Given the description of an element on the screen output the (x, y) to click on. 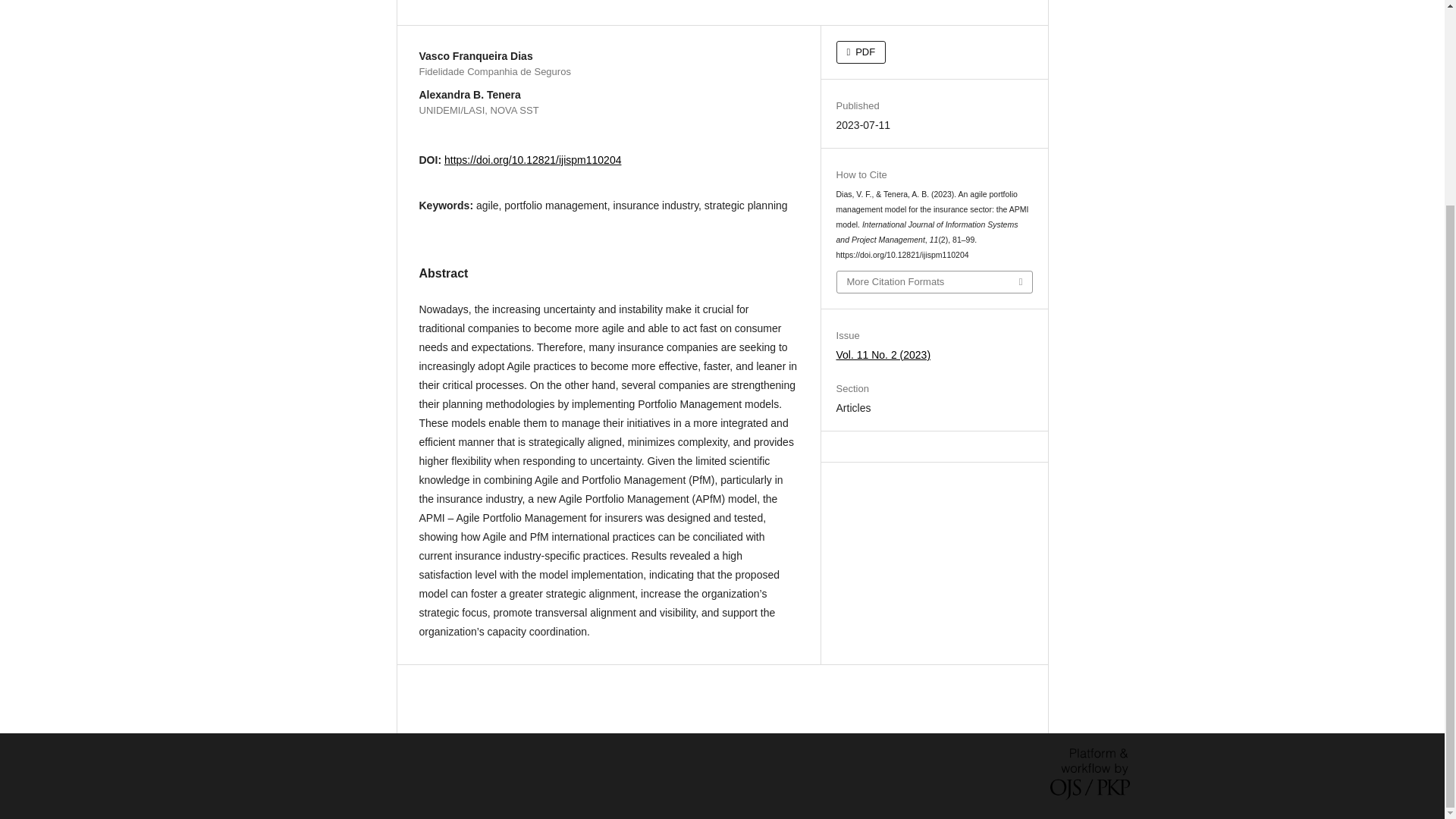
PDF (860, 51)
More Citation Formats (934, 281)
